Given the description of an element on the screen output the (x, y) to click on. 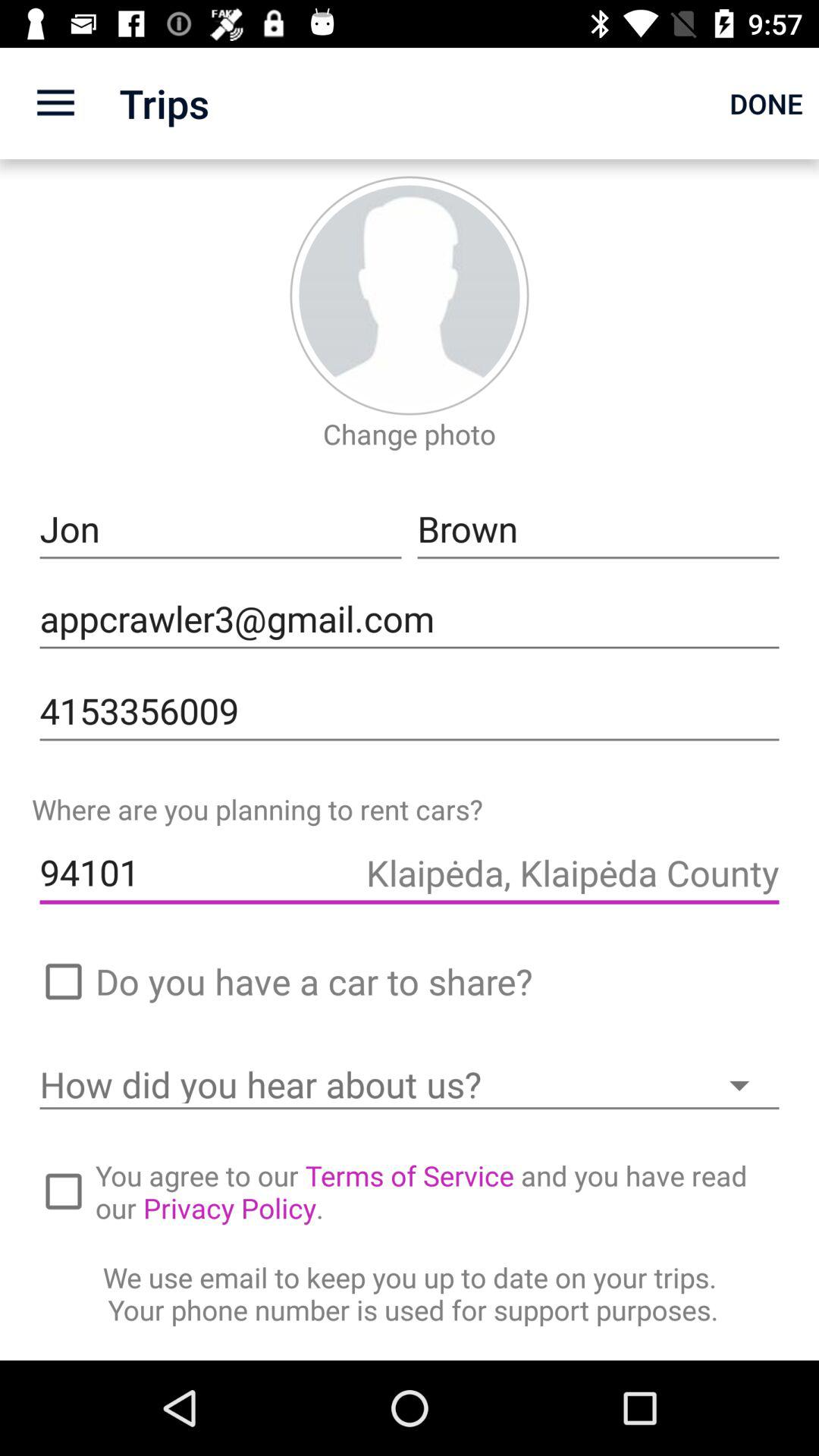
turn on icon next to trips item (55, 103)
